Given the description of an element on the screen output the (x, y) to click on. 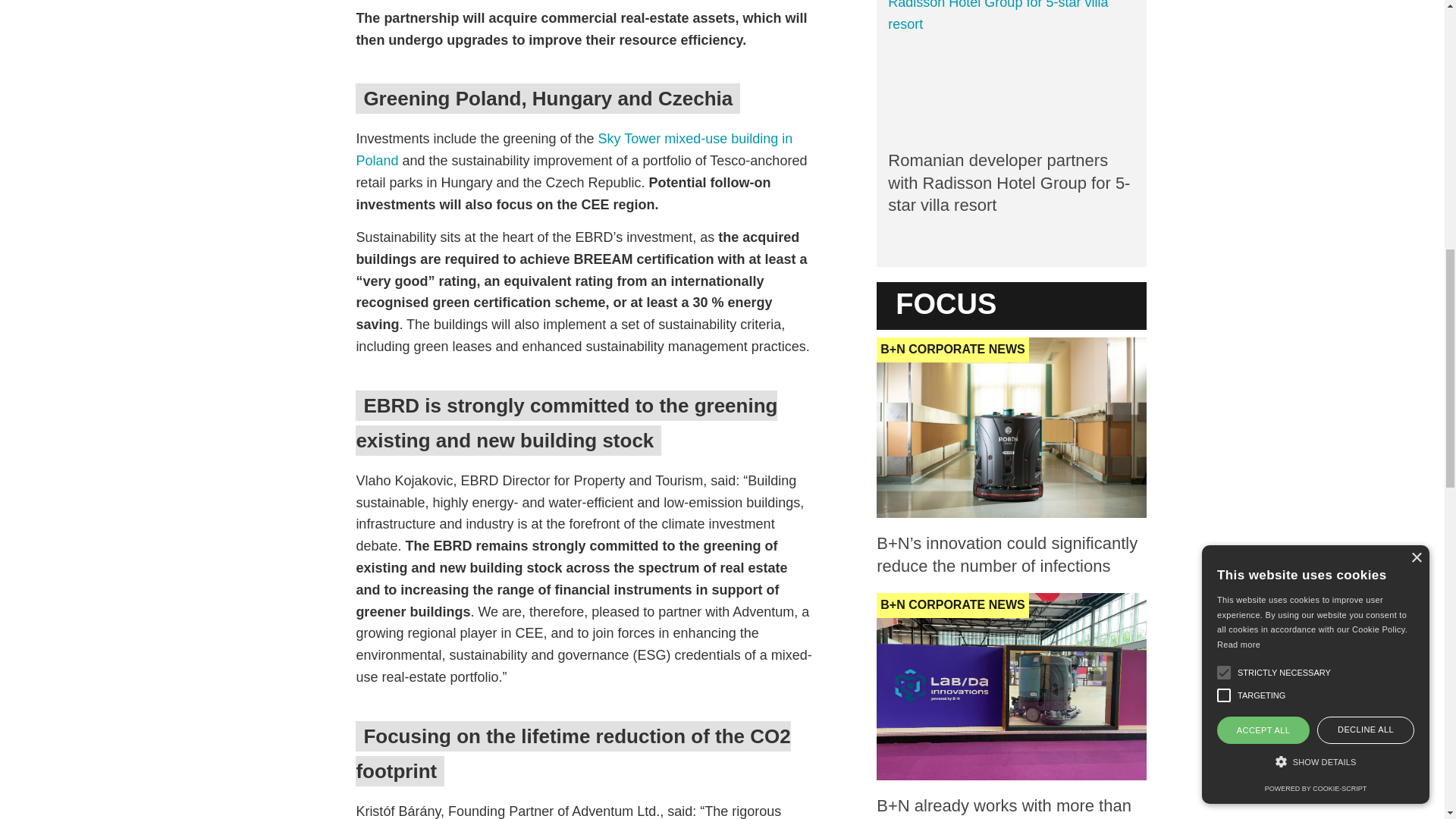
Sky Tower mixed-use building in Poland (573, 149)
